Given the description of an element on the screen output the (x, y) to click on. 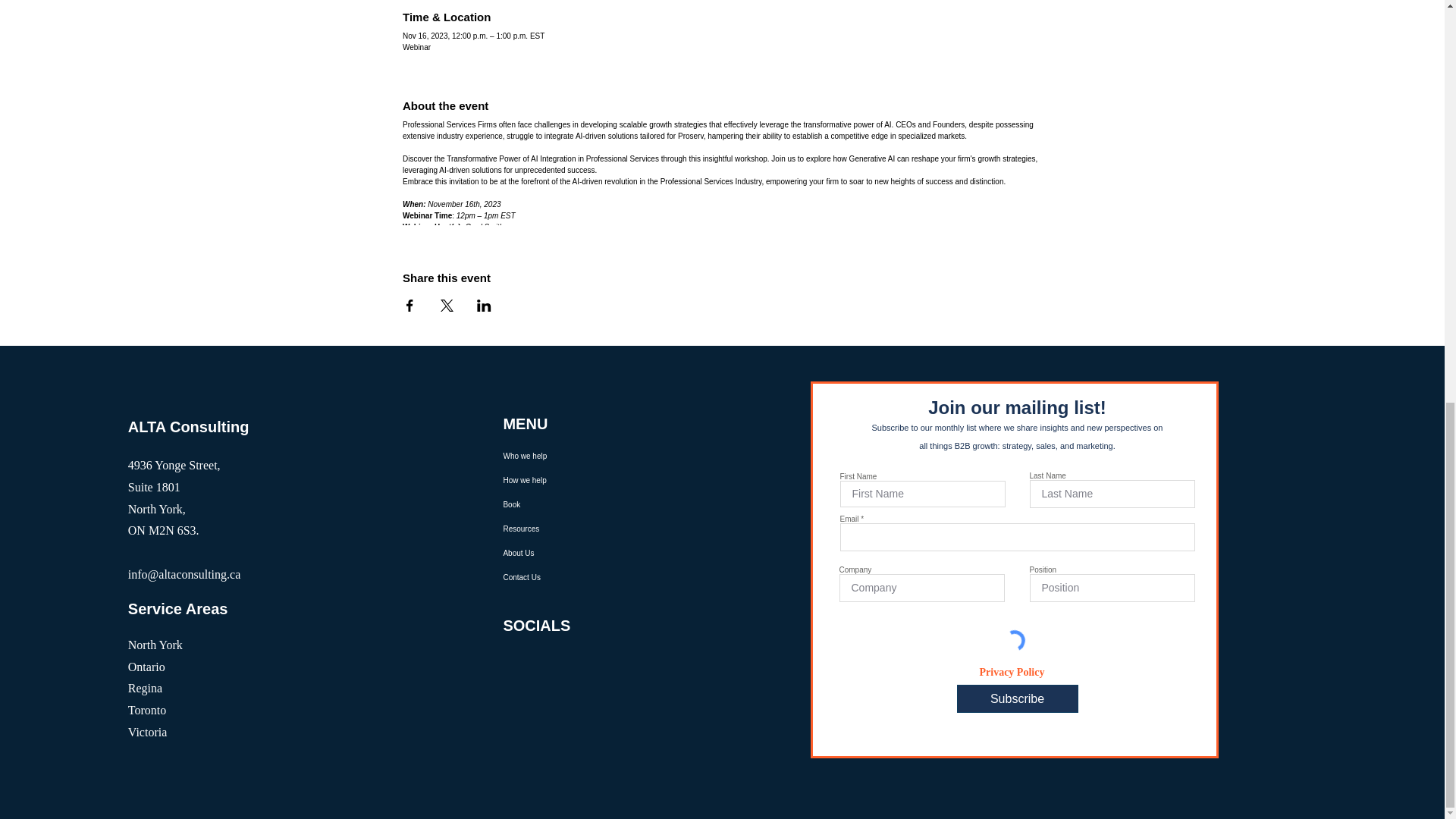
Toronto (146, 709)
Ontario (146, 666)
North York (155, 644)
Regina (144, 687)
Service Areas (178, 608)
ALTA Consulting (188, 426)
Victoria (147, 731)
